Given the description of an element on the screen output the (x, y) to click on. 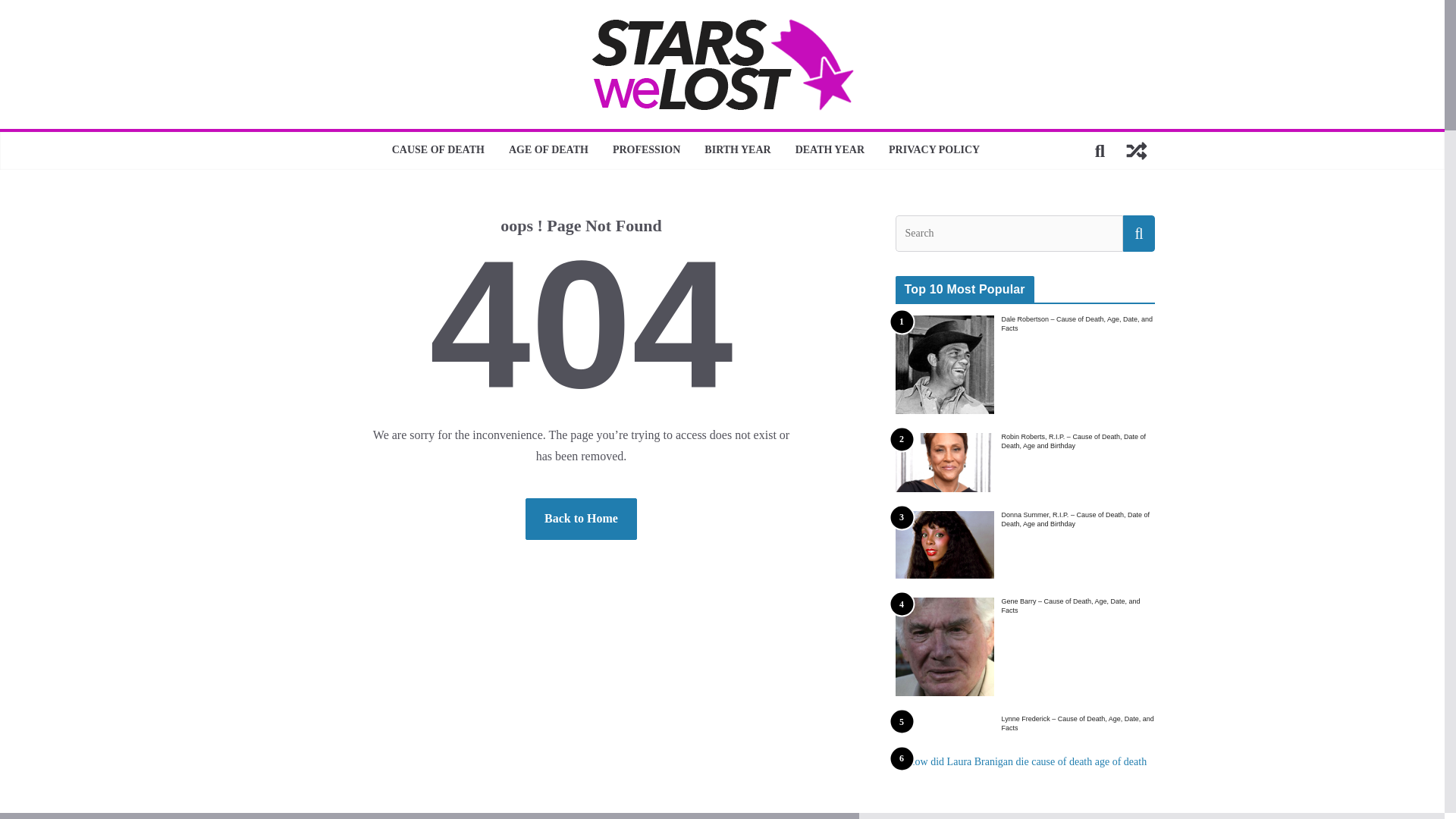
6 (1175, 785)
PRIVACY POLICY (933, 150)
4 (943, 646)
1 (943, 364)
DEATH YEAR (829, 150)
PROFESSION (645, 150)
View a random post (1136, 150)
2 (943, 462)
3 (943, 544)
BIRTH YEAR (737, 150)
